Given the description of an element on the screen output the (x, y) to click on. 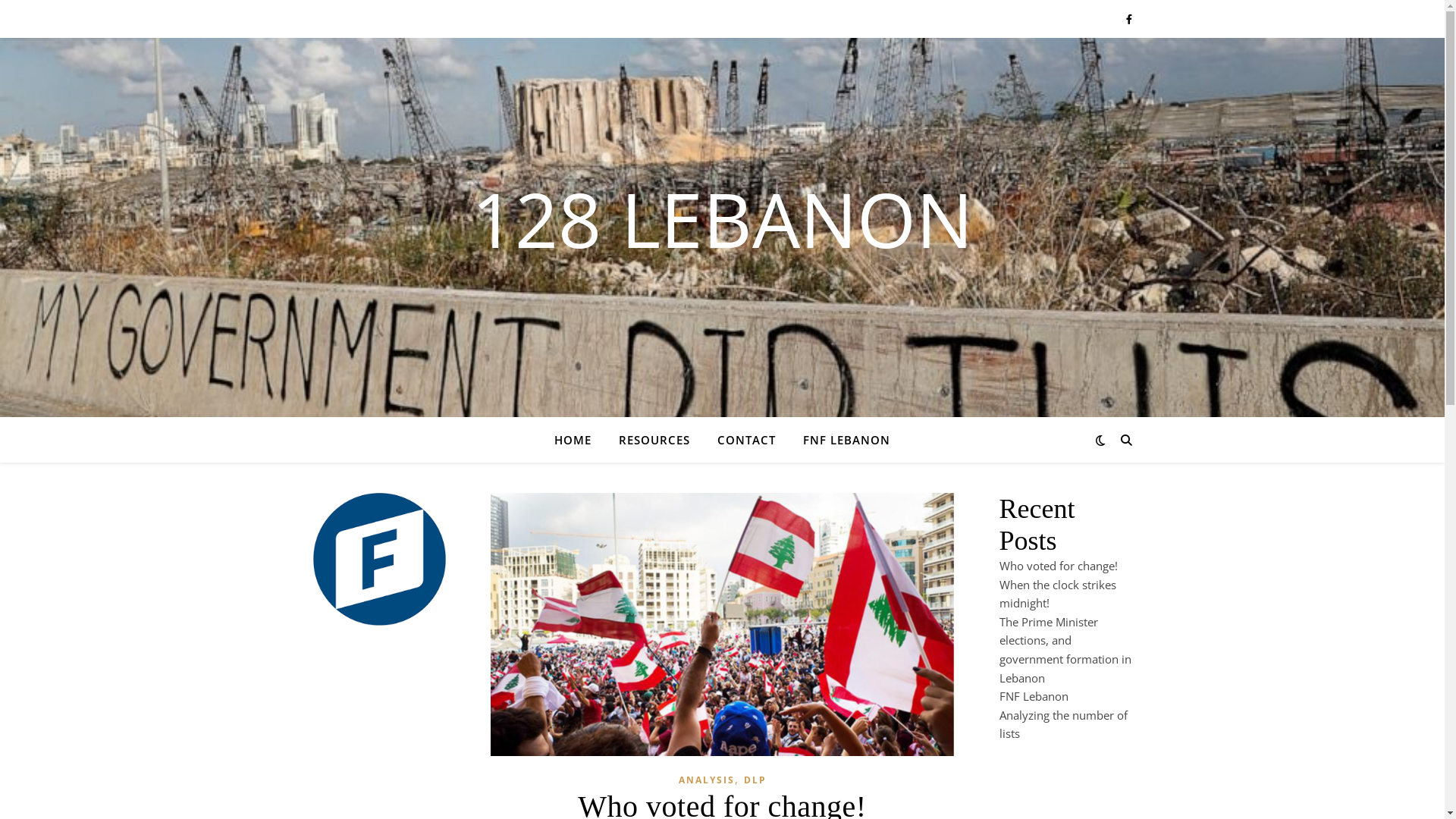
Analyzing the number of lists Element type: text (1063, 724)
ANALYSIS Element type: text (705, 780)
FNF Lebanon Element type: text (1033, 695)
128 LEBANON Element type: text (722, 218)
CONTACT Element type: text (746, 439)
DLP Element type: text (754, 780)
When the clock strikes midnight! Element type: text (1057, 594)
RESOURCES Element type: text (654, 439)
HOME Element type: text (578, 439)
FNF LEBANON Element type: text (840, 439)
Who voted for change! Element type: text (1058, 565)
